Given the description of an element on the screen output the (x, y) to click on. 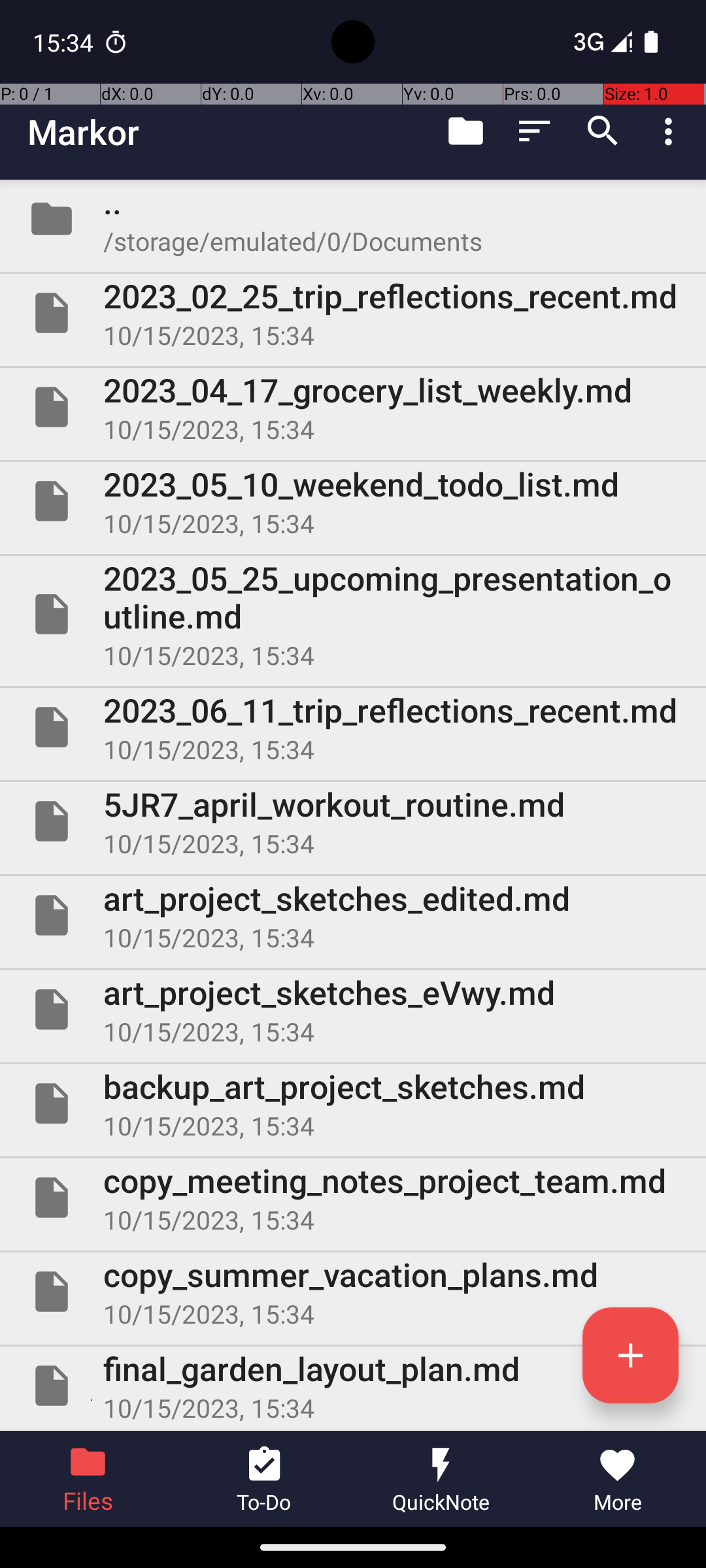
File 2023_02_25_trip_reflections_recent.md  Element type: android.widget.LinearLayout (353, 312)
File 2023_04_17_grocery_list_weekly.md  Element type: android.widget.LinearLayout (353, 406)
File 2023_05_10_weekend_todo_list.md  Element type: android.widget.LinearLayout (353, 500)
File 2023_05_25_upcoming_presentation_outline.md  Element type: android.widget.LinearLayout (353, 613)
File 2023_06_11_trip_reflections_recent.md  Element type: android.widget.LinearLayout (353, 726)
File 5JR7_april_workout_routine.md  Element type: android.widget.LinearLayout (353, 821)
File art_project_sketches_edited.md  Element type: android.widget.LinearLayout (353, 915)
File art_project_sketches_eVwy.md  Element type: android.widget.LinearLayout (353, 1009)
File backup_art_project_sketches.md  Element type: android.widget.LinearLayout (353, 1103)
File copy_meeting_notes_project_team.md  Element type: android.widget.LinearLayout (353, 1197)
File copy_summer_vacation_plans.md  Element type: android.widget.LinearLayout (353, 1291)
File final_garden_layout_plan.md  Element type: android.widget.LinearLayout (353, 1385)
